Given the description of an element on the screen output the (x, y) to click on. 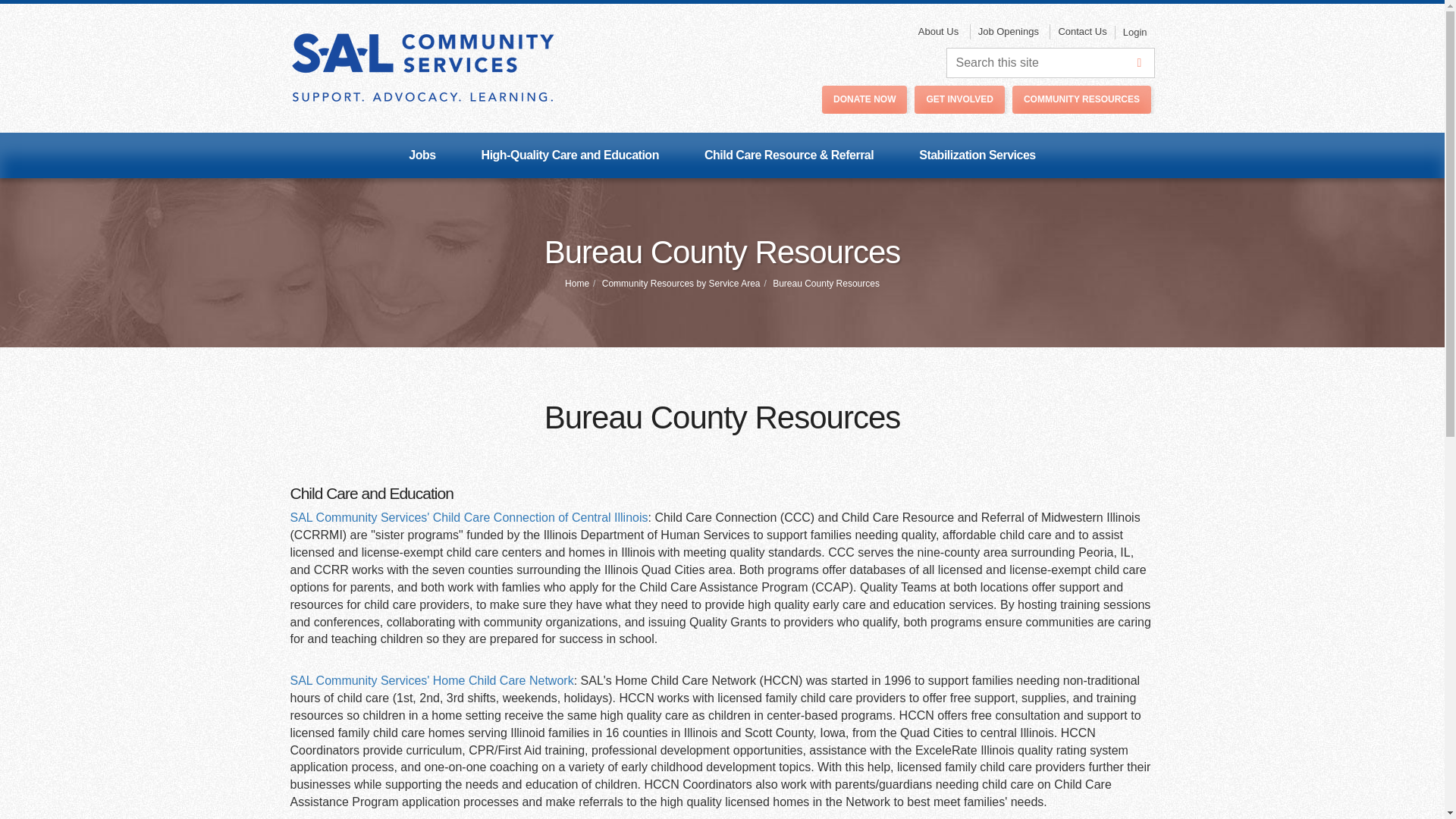
COMMUNITY RESOURCES (1081, 99)
About Us (938, 31)
Community Resources by Service Area (681, 283)
SAL Community Services' Home Child Care Network (431, 680)
GET INVOLVED (959, 99)
Jobs (421, 155)
Stabilization Services (977, 155)
Job Openings (1007, 31)
Login (1134, 32)
Search this site (1050, 62)
Contact Us (1081, 31)
Home (576, 283)
Search (1139, 62)
DONATE NOW (864, 99)
